Given the description of an element on the screen output the (x, y) to click on. 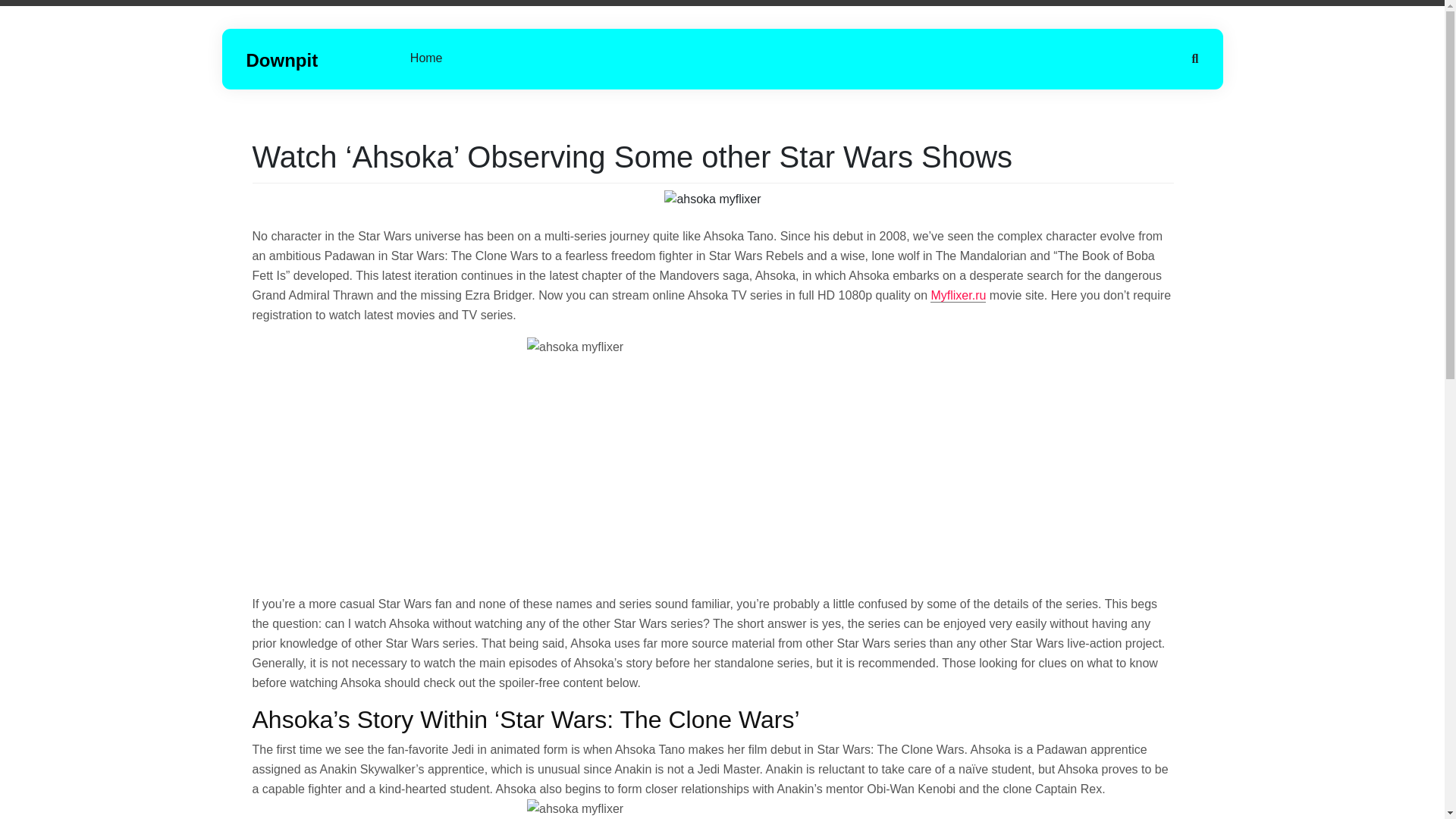
Downpit (281, 59)
Home (426, 58)
Search (32, 12)
Myflixer.ru (957, 295)
